Given the description of an element on the screen output the (x, y) to click on. 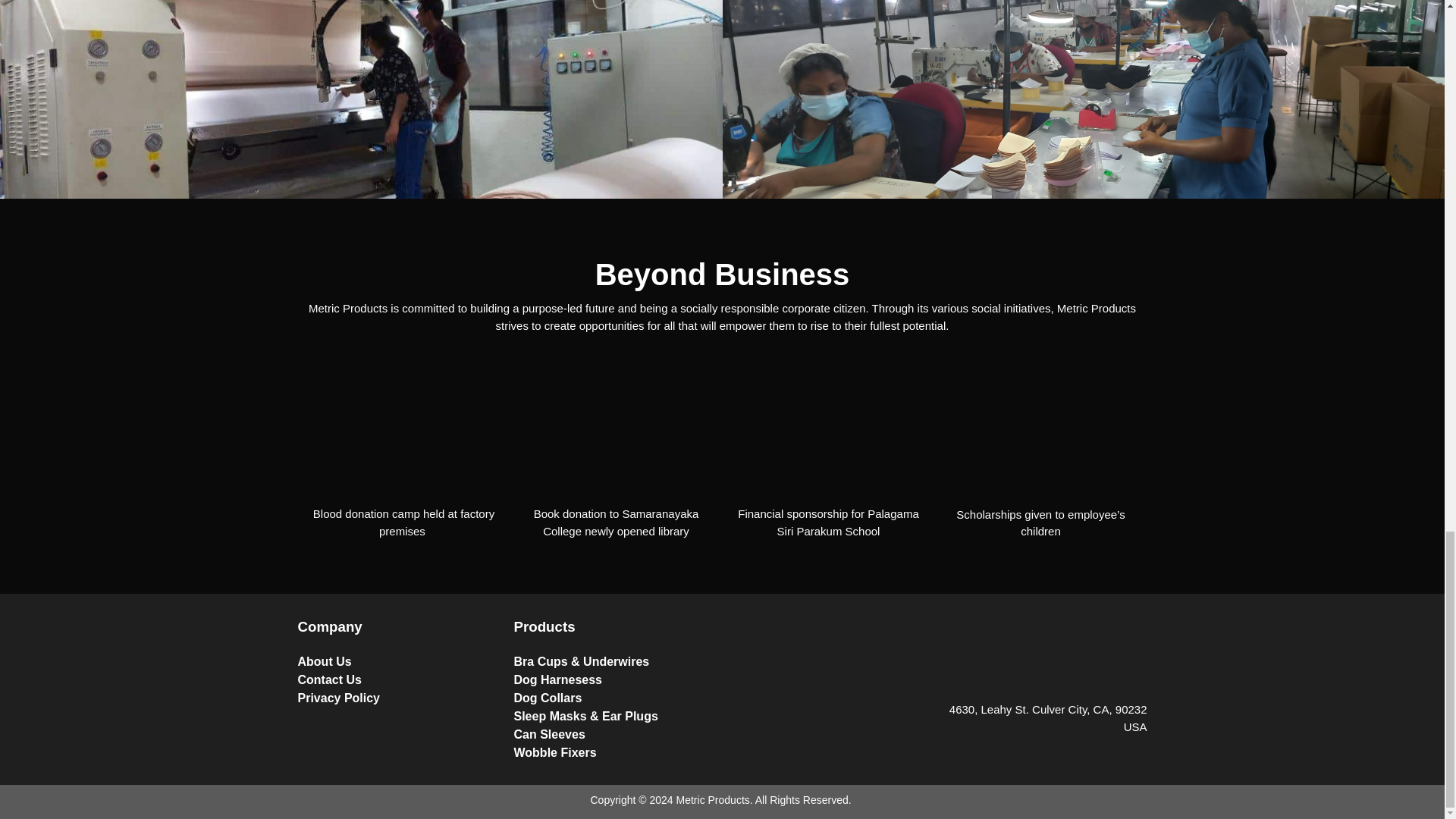
Dog Collars (613, 698)
Dog Harnesess (613, 679)
Privacy Policy (397, 698)
About Us (397, 661)
Contact Us (397, 679)
